Given the description of an element on the screen output the (x, y) to click on. 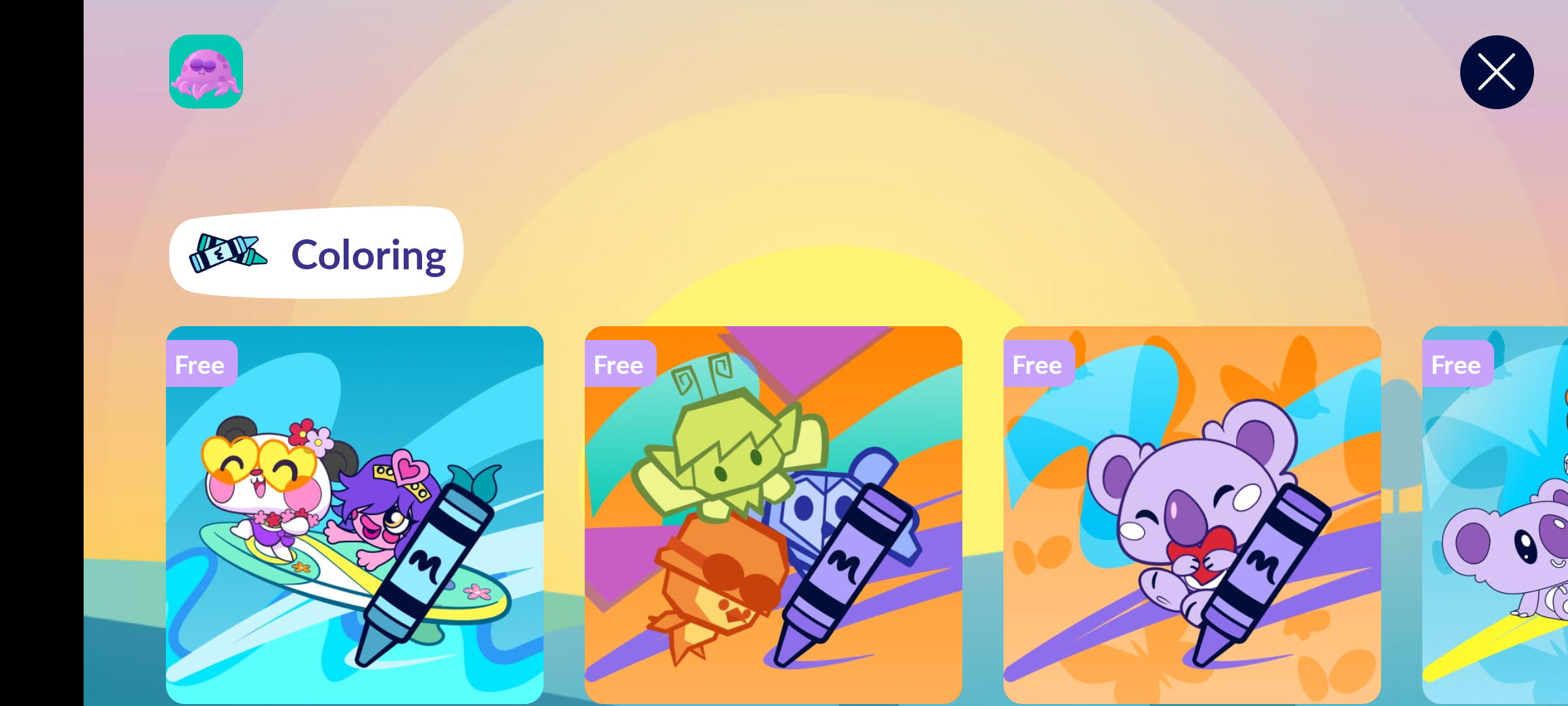
Profile icon (205, 71)
Featured Content Free (355, 514)
Featured Content Free (773, 514)
Featured Content Free (1192, 514)
